Given the description of an element on the screen output the (x, y) to click on. 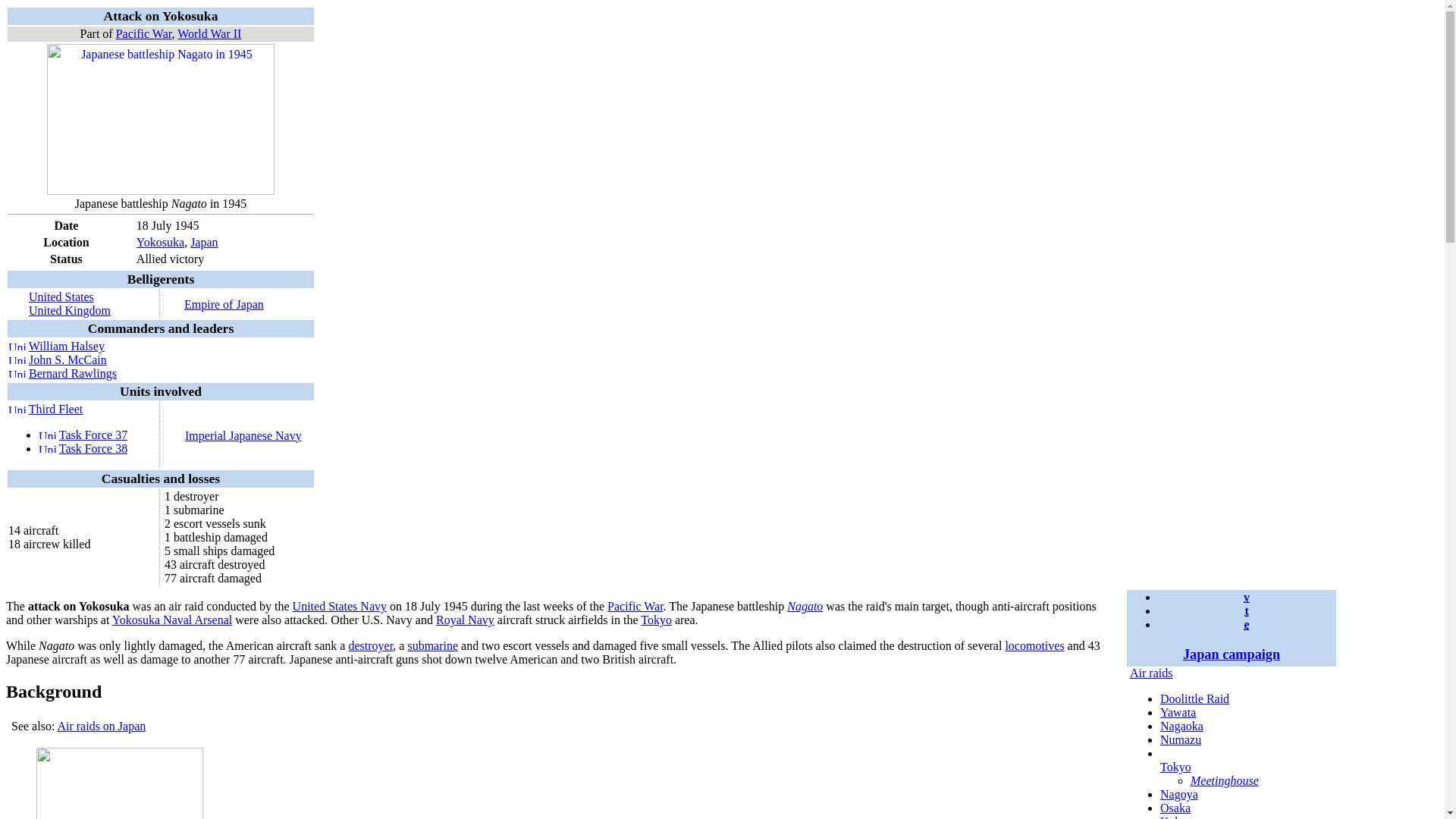
Empire of Japan (223, 303)
John S. McCain, Sr. (67, 359)
Osaka (1175, 807)
William Halsey (66, 345)
Imperial Japanese Navy (242, 435)
World War II (209, 33)
Nagaoka (1182, 725)
United Kingdom (47, 434)
Third Fleet (55, 408)
Yokosuka, Kanagawa (160, 241)
United Kingdom (69, 309)
Japanese battleship Nagato in 1945 (160, 190)
United States (17, 345)
John S. McCain (67, 359)
Numazu (1180, 739)
